Given the description of an element on the screen output the (x, y) to click on. 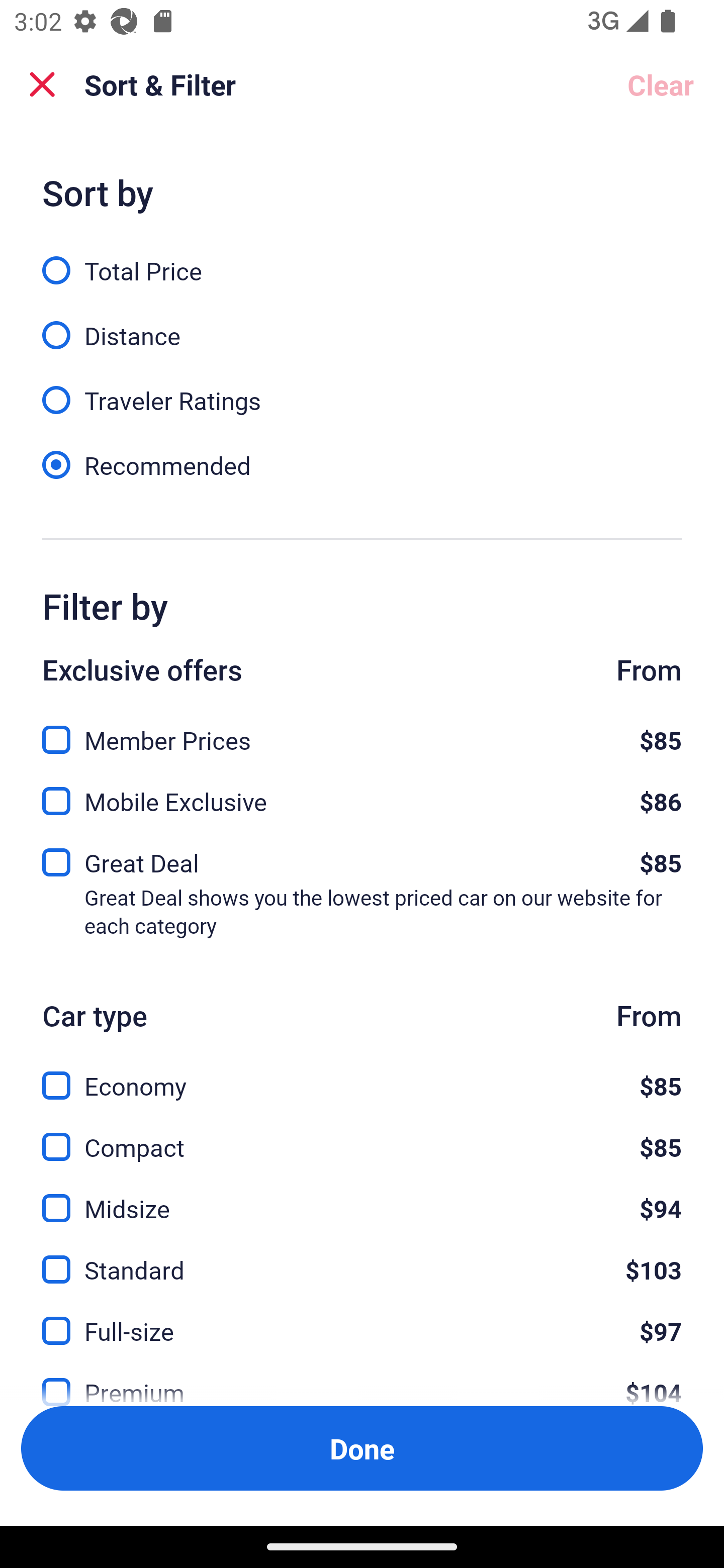
Close Sort and Filter (42, 84)
Clear (660, 84)
Total Price (361, 259)
Distance (361, 324)
Traveler Ratings (361, 389)
Member Prices, $85 Member Prices $85 (361, 727)
Mobile Exclusive, $86 Mobile Exclusive $86 (361, 795)
Economy, $85 Economy $85 (361, 1074)
Compact, $85 Compact $85 (361, 1135)
Midsize, $94 Midsize $94 (361, 1196)
Standard, $103 Standard $103 (361, 1257)
Full-size, $97 Full-size $97 (361, 1319)
Premium, $104 Premium $104 (361, 1378)
Apply and close Sort and Filter Done (361, 1448)
